Given the description of an element on the screen output the (x, y) to click on. 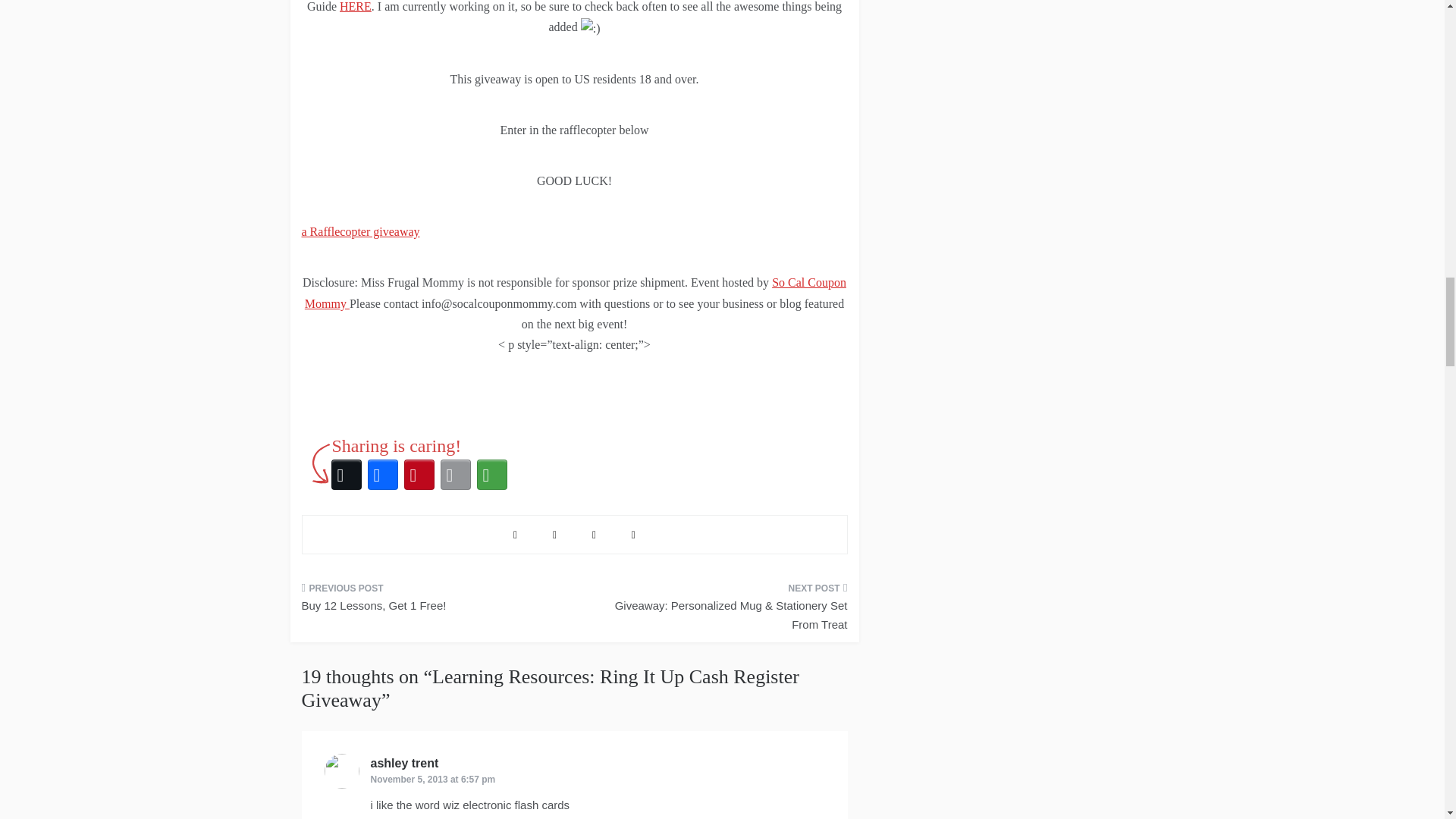
Facebook (382, 474)
Pinterest (418, 474)
HERE (355, 6)
a Rafflecopter giveaway (360, 231)
More Options (491, 474)
So Cal Coupon Mommy (574, 292)
Email This (454, 474)
